Given the description of an element on the screen output the (x, y) to click on. 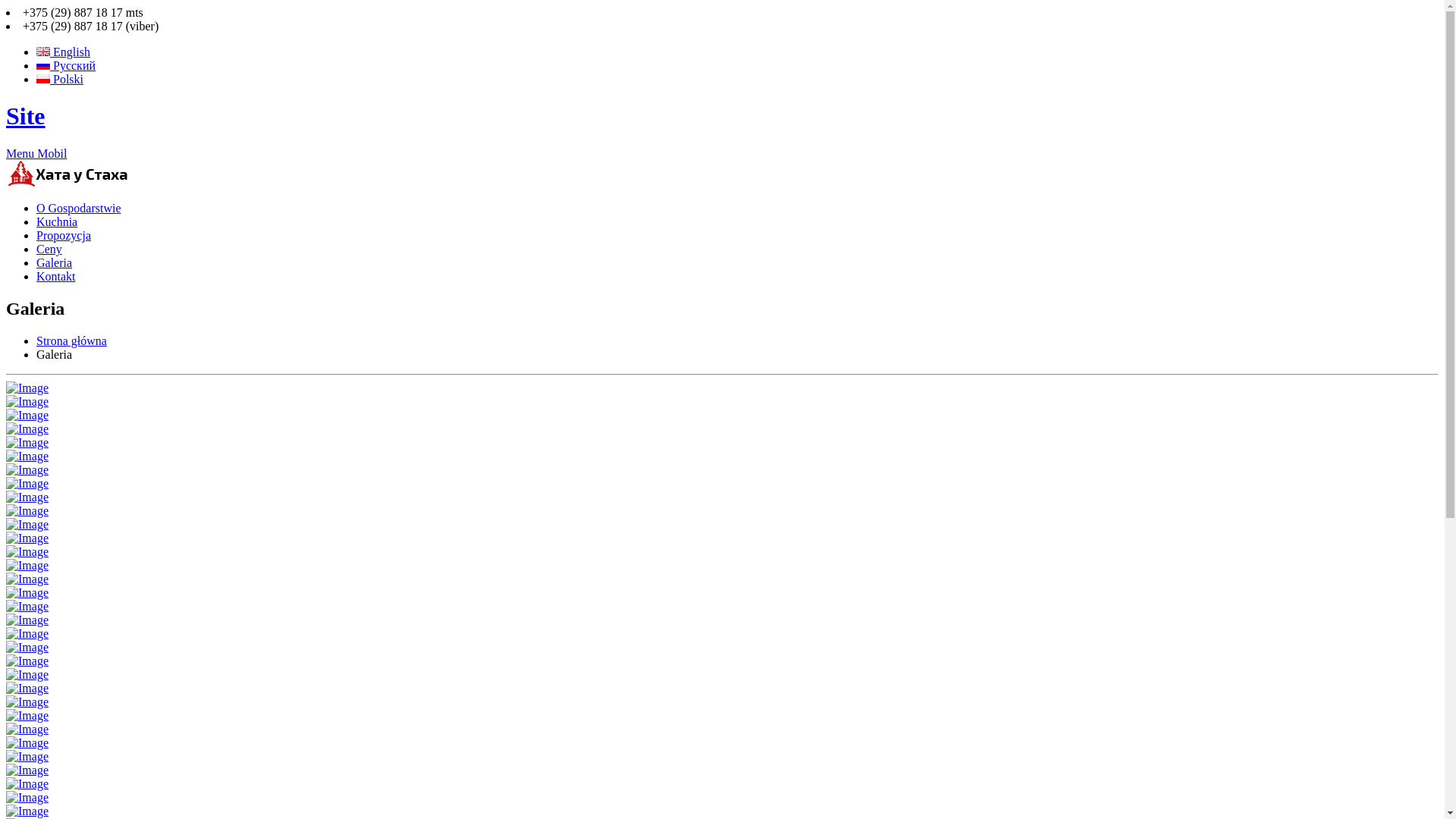
Ceny Element type: text (49, 248)
Propozycja Element type: text (63, 235)
O Gospodarstwie Element type: text (78, 207)
Kuchnia Element type: text (56, 221)
Polski Element type: text (59, 78)
Menu Mobil Element type: text (36, 153)
Site Element type: text (25, 115)
English Element type: text (63, 51)
Galeria Element type: text (54, 262)
Kontakt Element type: text (55, 275)
